Given the description of an element on the screen output the (x, y) to click on. 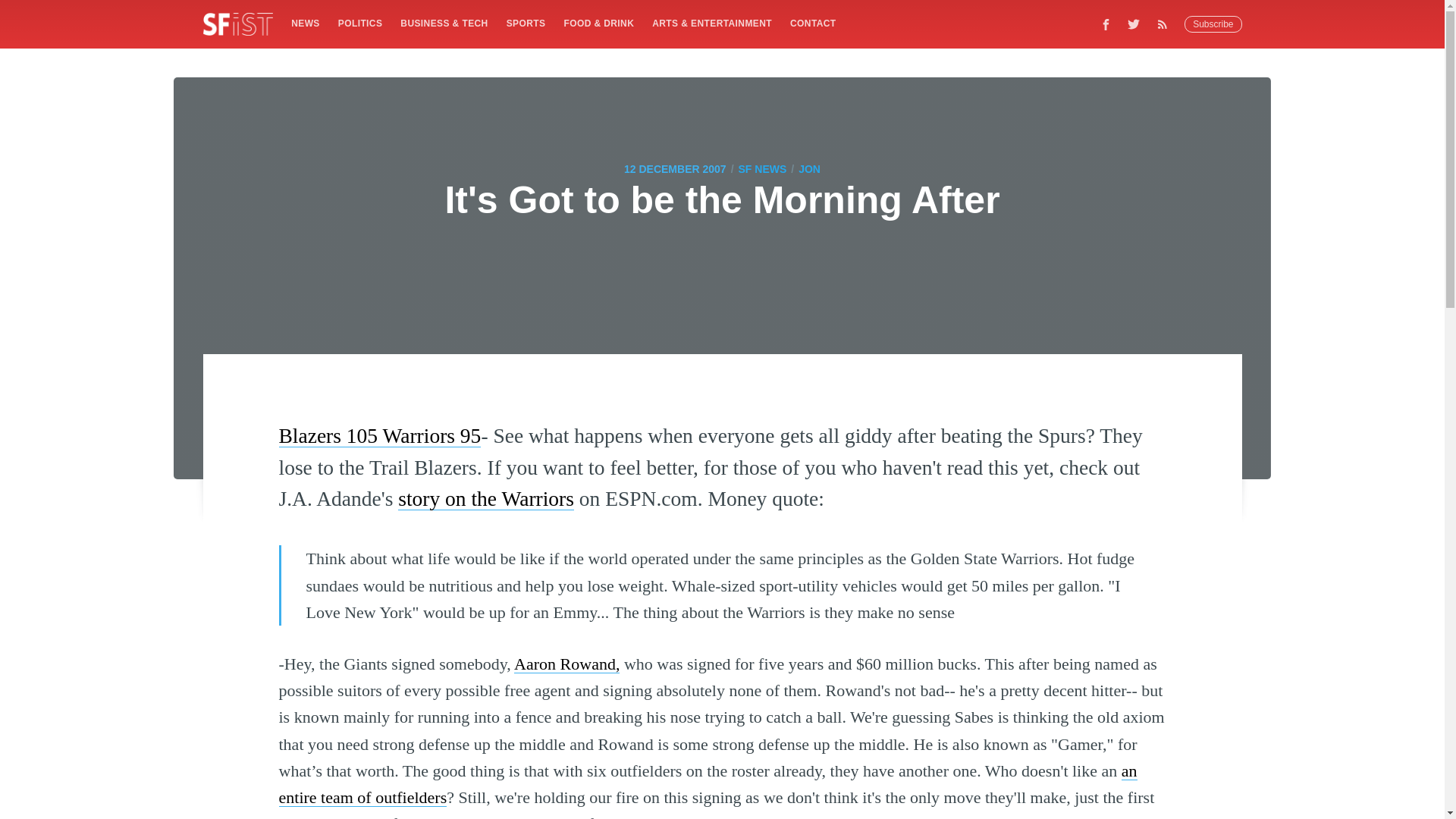
POLITICS (360, 23)
Facebook (1106, 23)
Twitter (1133, 23)
SPORTS (525, 23)
Subscribe (1213, 23)
an entire team of outfielders (708, 783)
CONTACT (812, 23)
Blazers 105 Warriors 95 (380, 435)
JON (809, 168)
story on the Warriors (485, 498)
NEWS (305, 23)
SF NEWS (762, 168)
RSS (1166, 23)
Aaron Rowand, (566, 663)
